Given the description of an element on the screen output the (x, y) to click on. 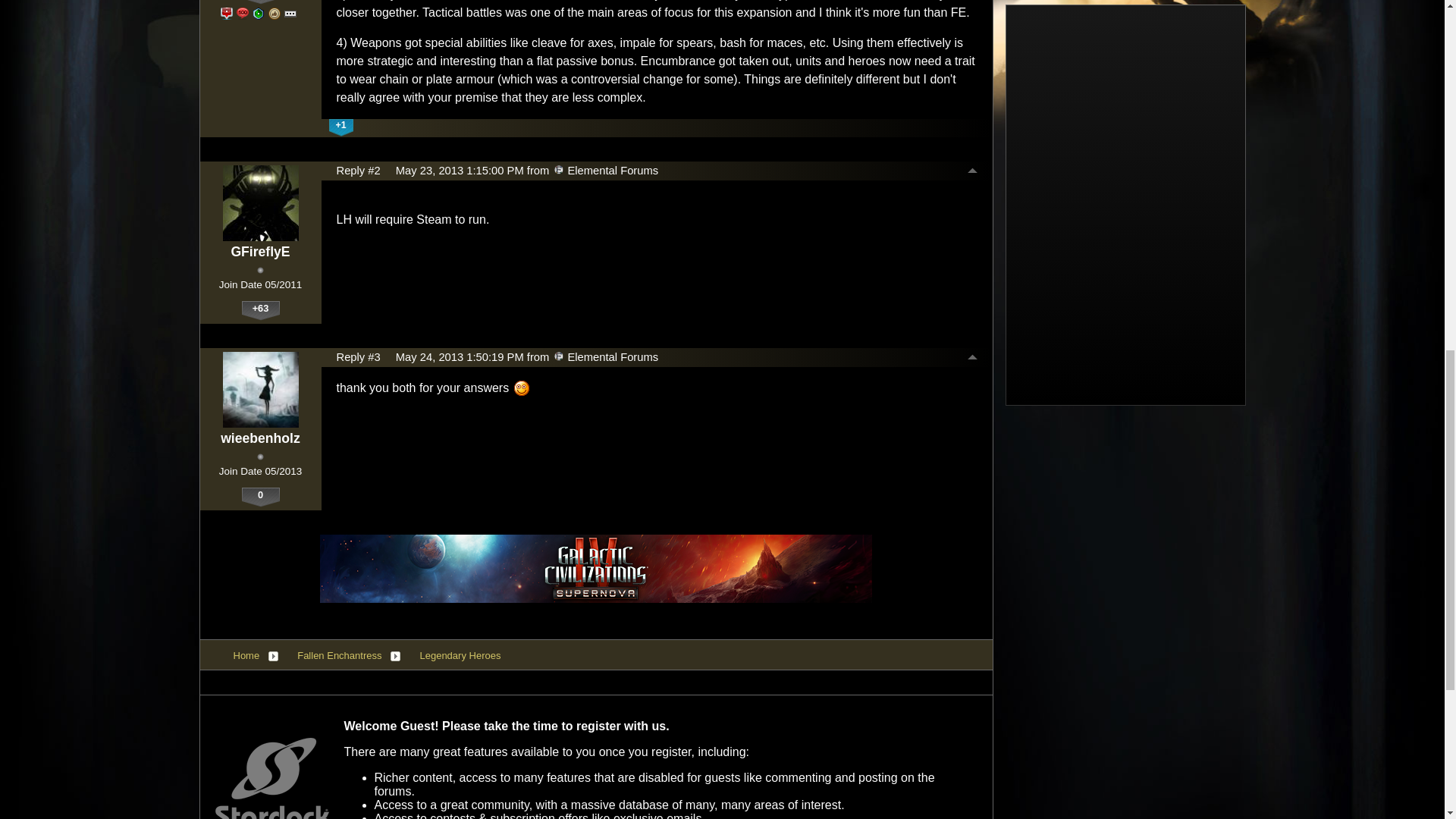
Novice Poster - Created 5 Posts (257, 13)
Received 100 clicks from shared links to a single post (226, 13)
Liked - Received 5 Total Karma (274, 13)
View cwg9's Karma (260, 2)
Active Commenter - Replied over 100 times (241, 13)
View all awards (290, 13)
